Given the description of an element on the screen output the (x, y) to click on. 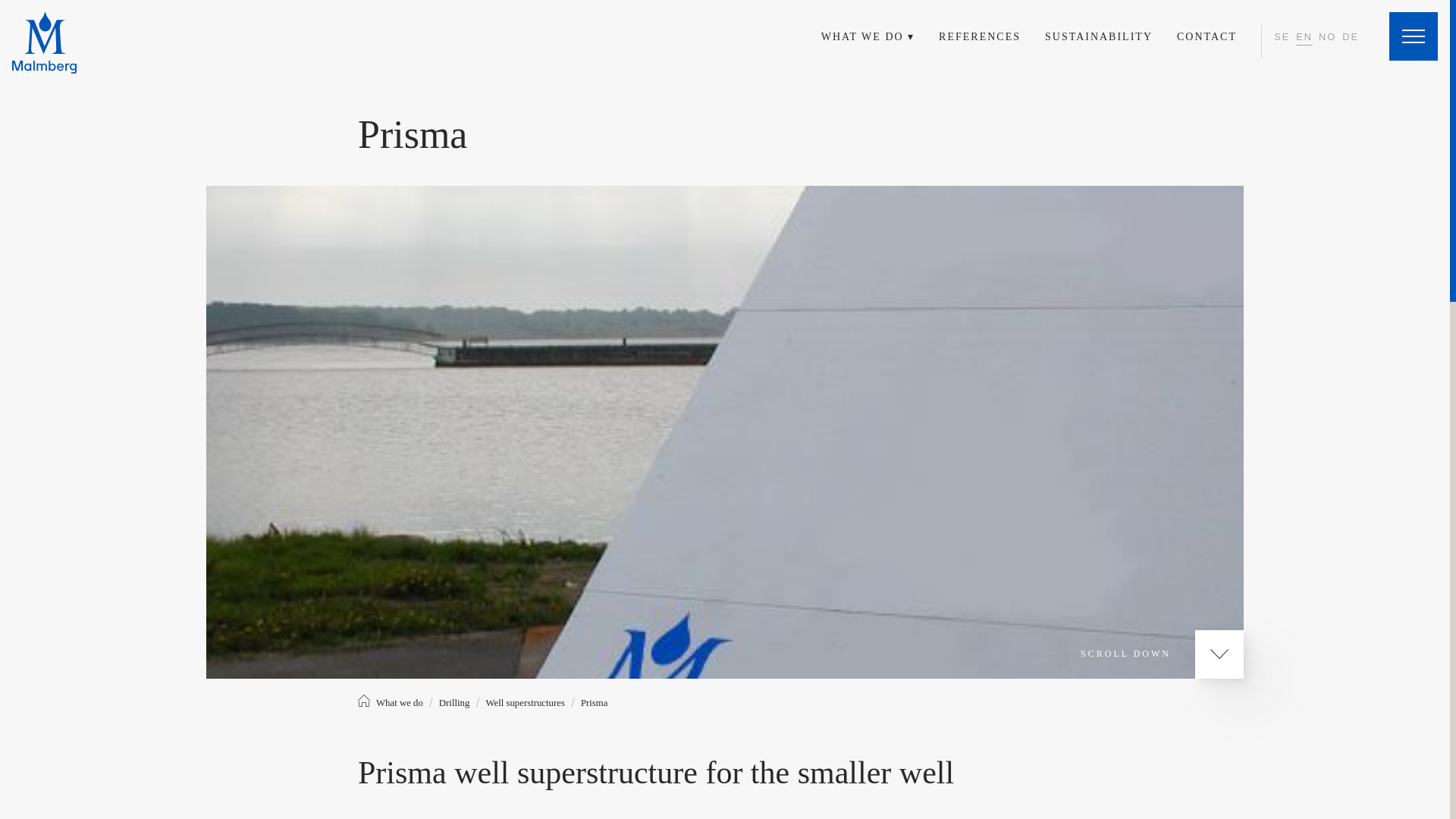
REFERENCES (979, 36)
SUSTAINABILITY (1099, 36)
What we do (399, 702)
SCROLL DOWN (1161, 653)
Prisma (594, 702)
What we do (399, 702)
DE (1350, 36)
Well superstructures (524, 702)
CONTACT (1206, 36)
SE (1282, 36)
